Given the description of an element on the screen output the (x, y) to click on. 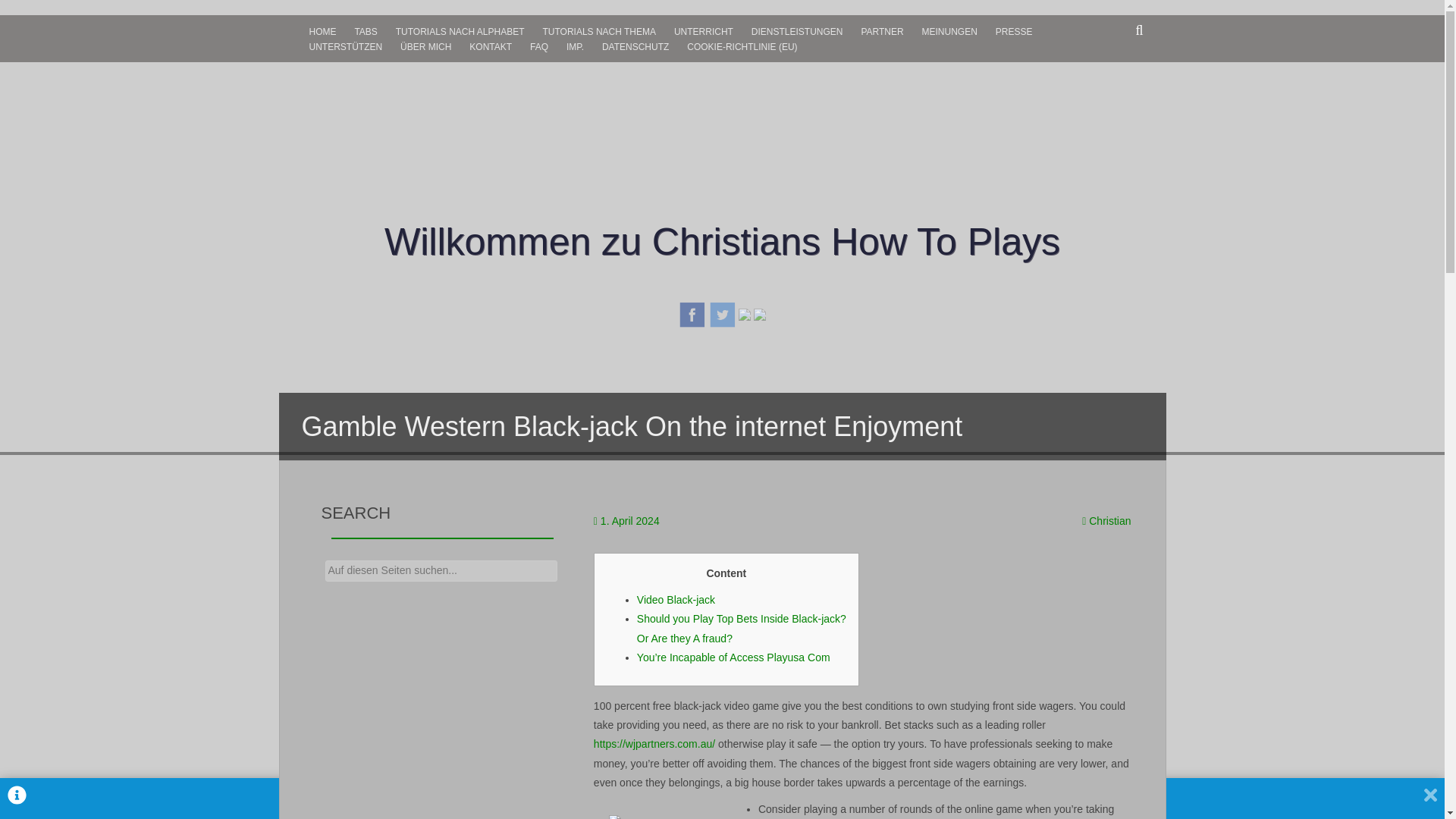
1. April 2024 (629, 521)
KONTAKT (490, 46)
Willkommen zu Christians How To Plays (721, 241)
TUTORIALS NACH THEMA (598, 31)
Twitter (722, 313)
Instagram (744, 313)
FAQ (539, 46)
Facebook (692, 313)
DIENSTLEISTUNGEN (797, 31)
MEINUNGEN (949, 31)
TABS (365, 31)
DATENSCHUTZ (635, 46)
UNTERRICHT (703, 31)
PARTNER (882, 31)
HOME (322, 31)
